Given the description of an element on the screen output the (x, y) to click on. 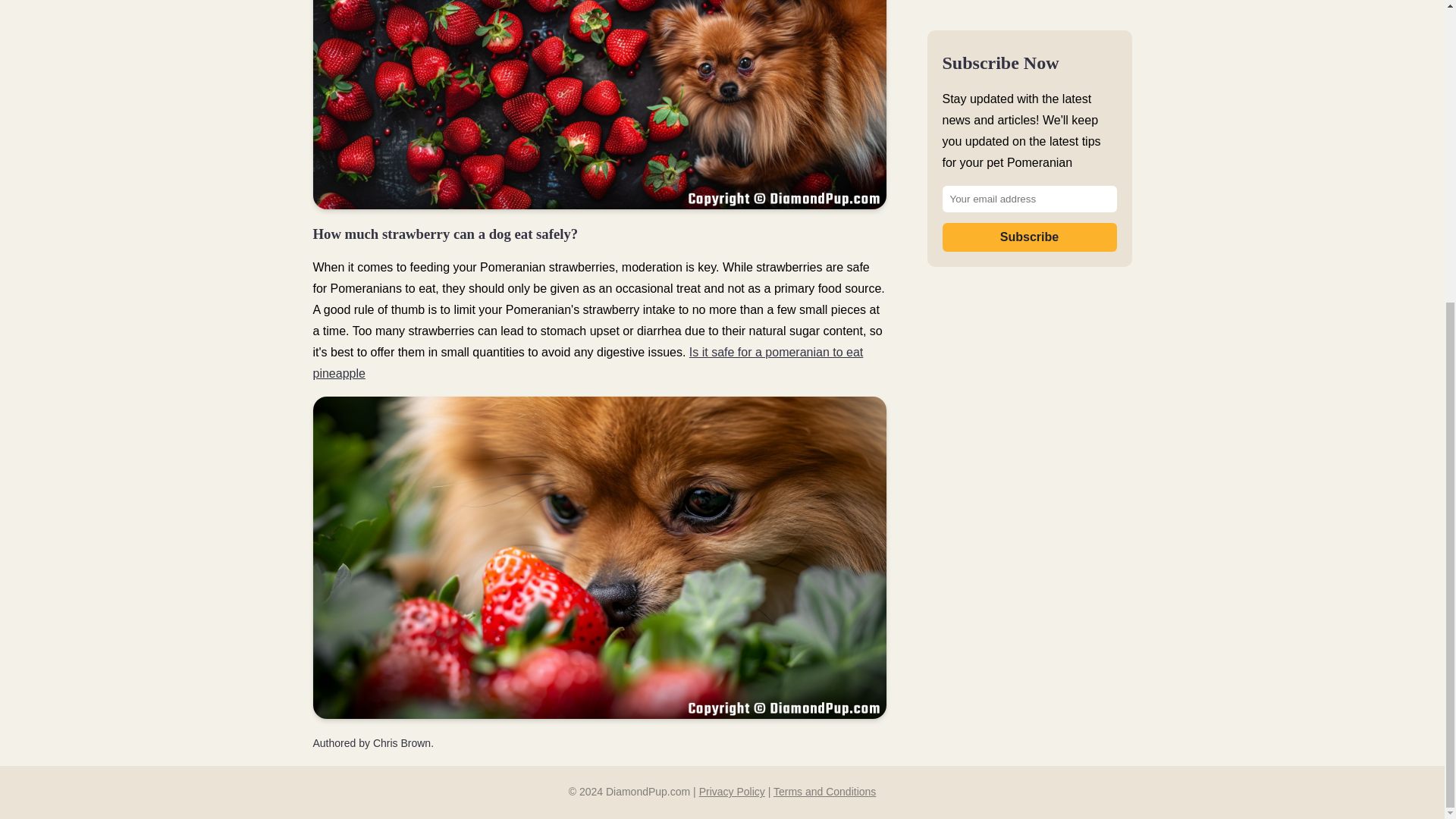
Is it safe for a pomeranian to eat pineapple (588, 362)
Photo of an Adorable Pomeranian Eating Strawberries (599, 104)
is it safe for a pomeranian to eat pineapple (588, 362)
Privacy Policy (731, 791)
Terms and Conditions (824, 791)
